Given the description of an element on the screen output the (x, y) to click on. 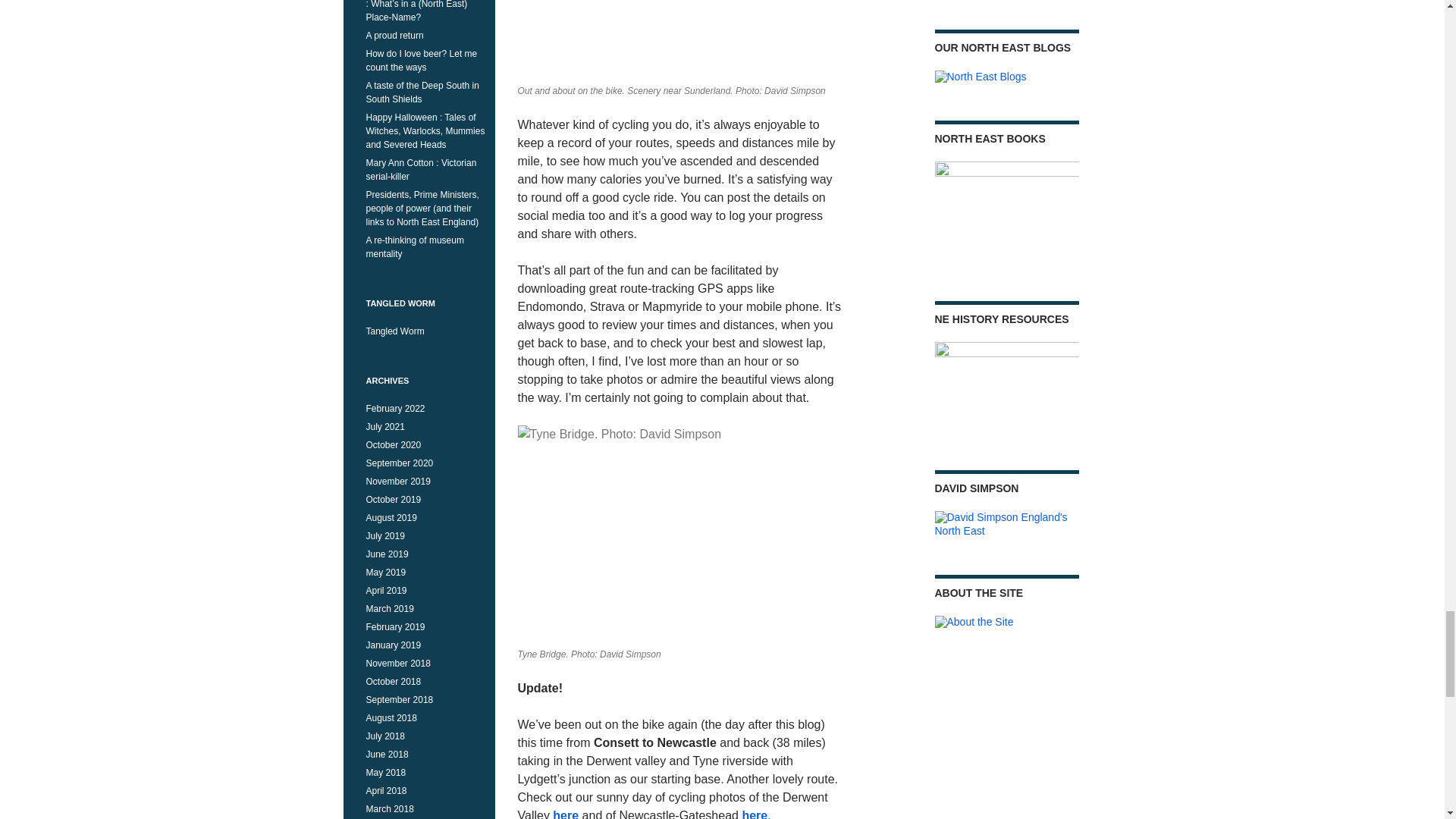
About the site (973, 622)
